Given the description of an element on the screen output the (x, y) to click on. 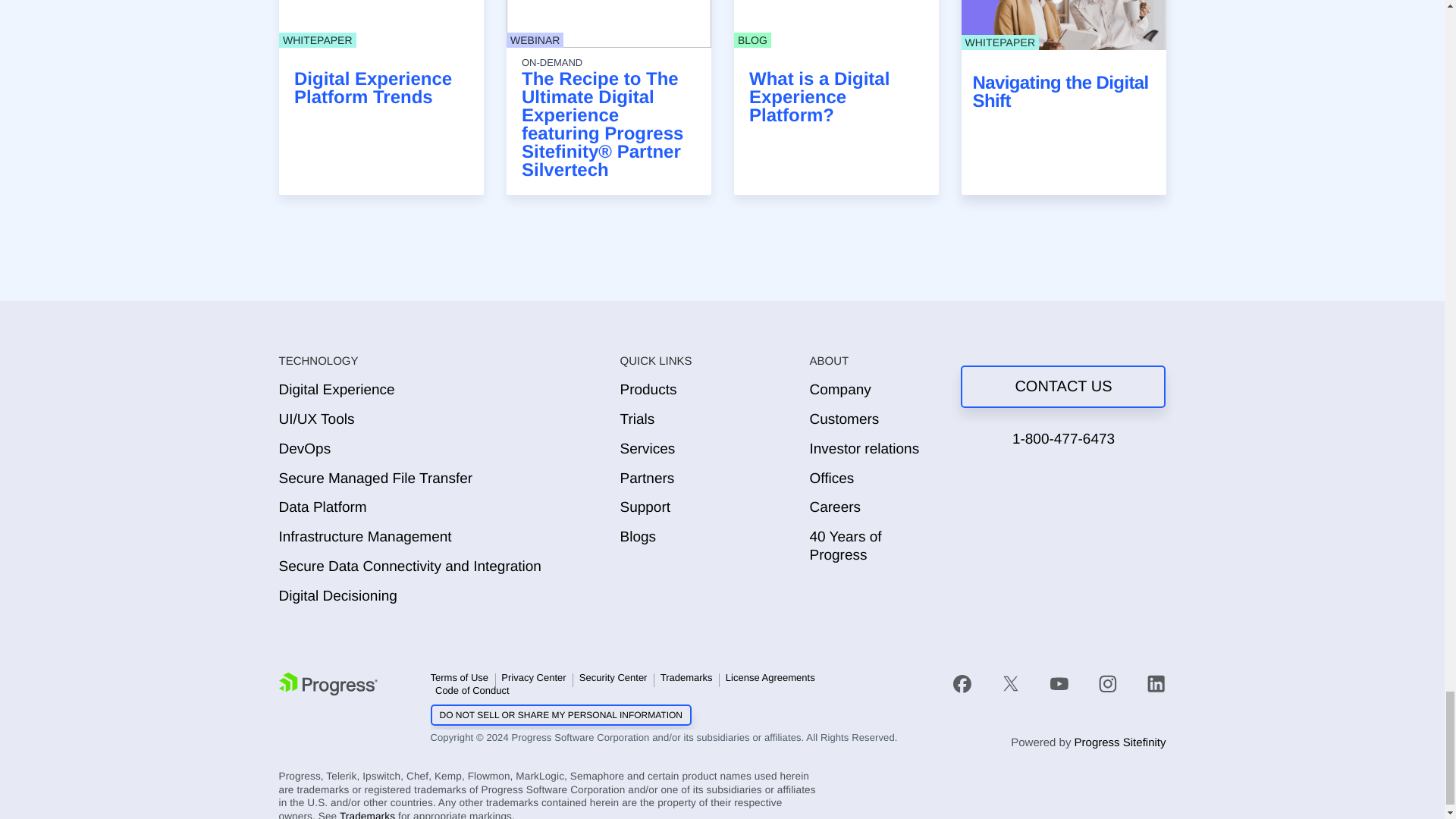
LinkedIn (1156, 683)
linkedin (1149, 682)
X (1010, 683)
Progress (328, 683)
Facebook (962, 683)
facebook (970, 682)
instagram (1107, 682)
YouTube (1058, 683)
Instagram (1107, 683)
youtube (1059, 682)
X (1011, 682)
